Given the description of an element on the screen output the (x, y) to click on. 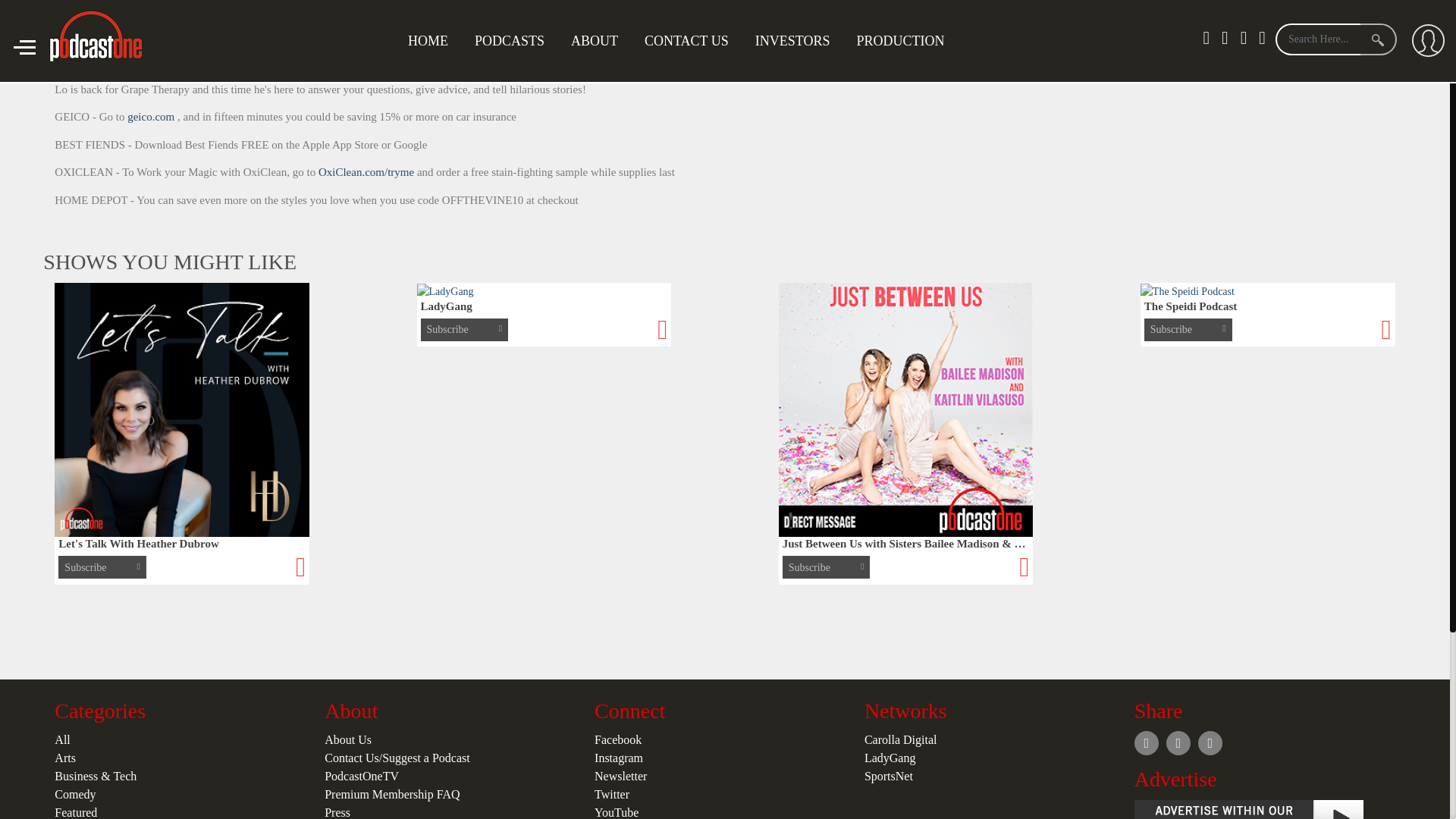
CONTACT US (686, 40)
PRODUCTION (899, 40)
Follow Us on Twitter (1350, 52)
Follow Us on Facebook (1382, 52)
INVESTORS (792, 40)
Subscribe (1270, 52)
PODCASTS (509, 40)
HOME (428, 40)
ABOUT (593, 40)
